Given the description of an element on the screen output the (x, y) to click on. 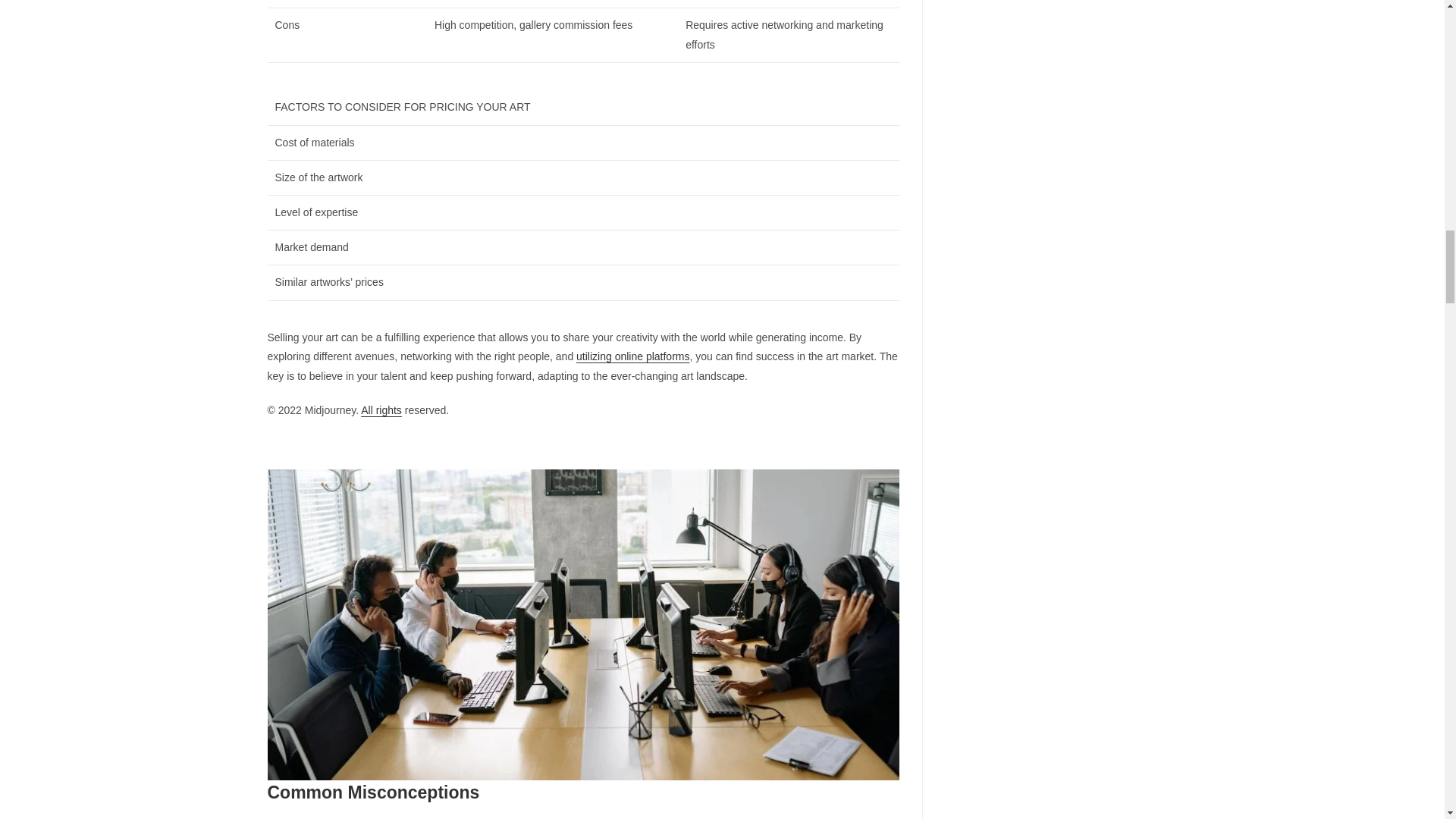
All rights (381, 410)
utilizing online platforms (632, 356)
